Given the description of an element on the screen output the (x, y) to click on. 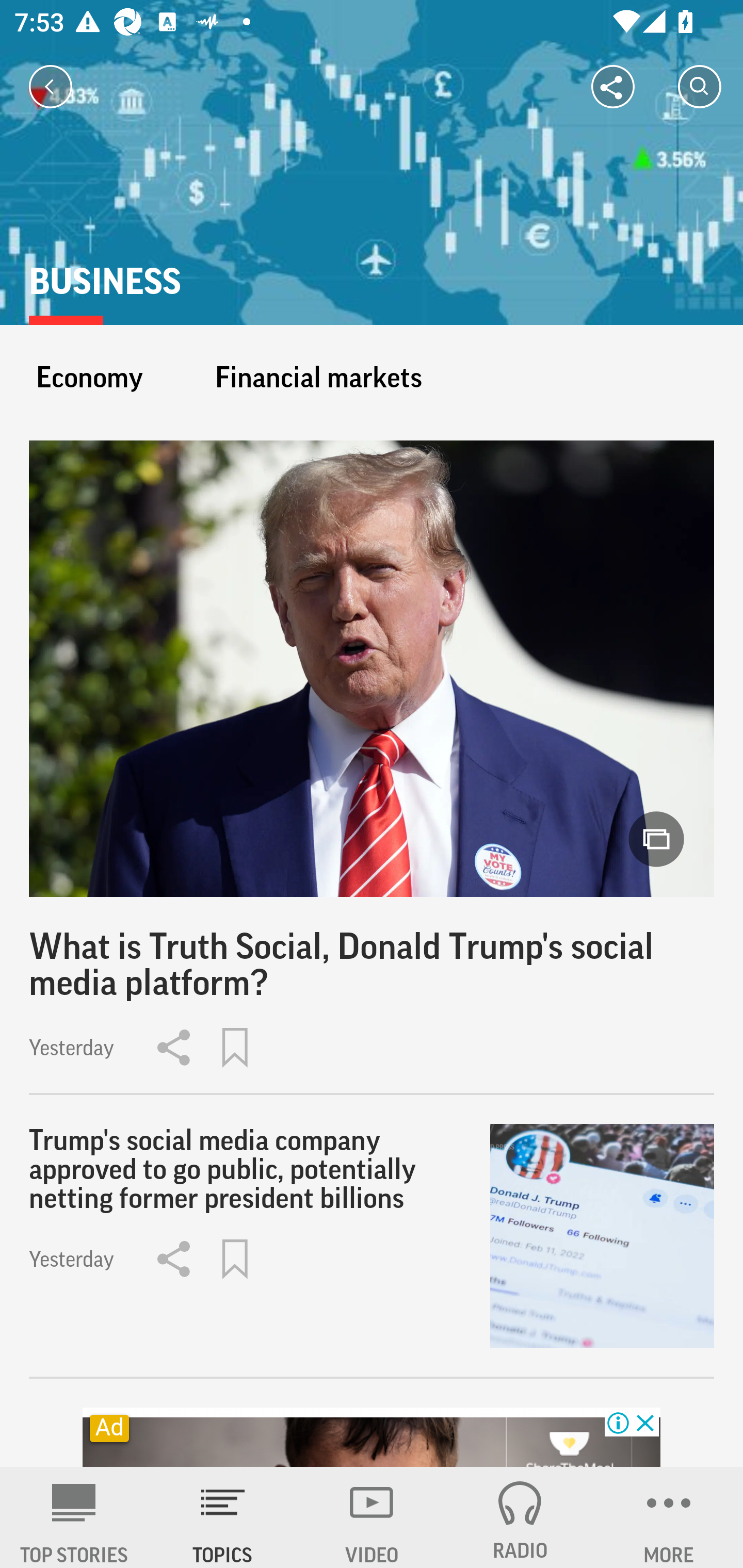
Economy (89, 376)
Financial markets (317, 376)
AP News TOP STORIES (74, 1517)
TOPICS (222, 1517)
VIDEO (371, 1517)
RADIO (519, 1517)
MORE (668, 1517)
